Given the description of an element on the screen output the (x, y) to click on. 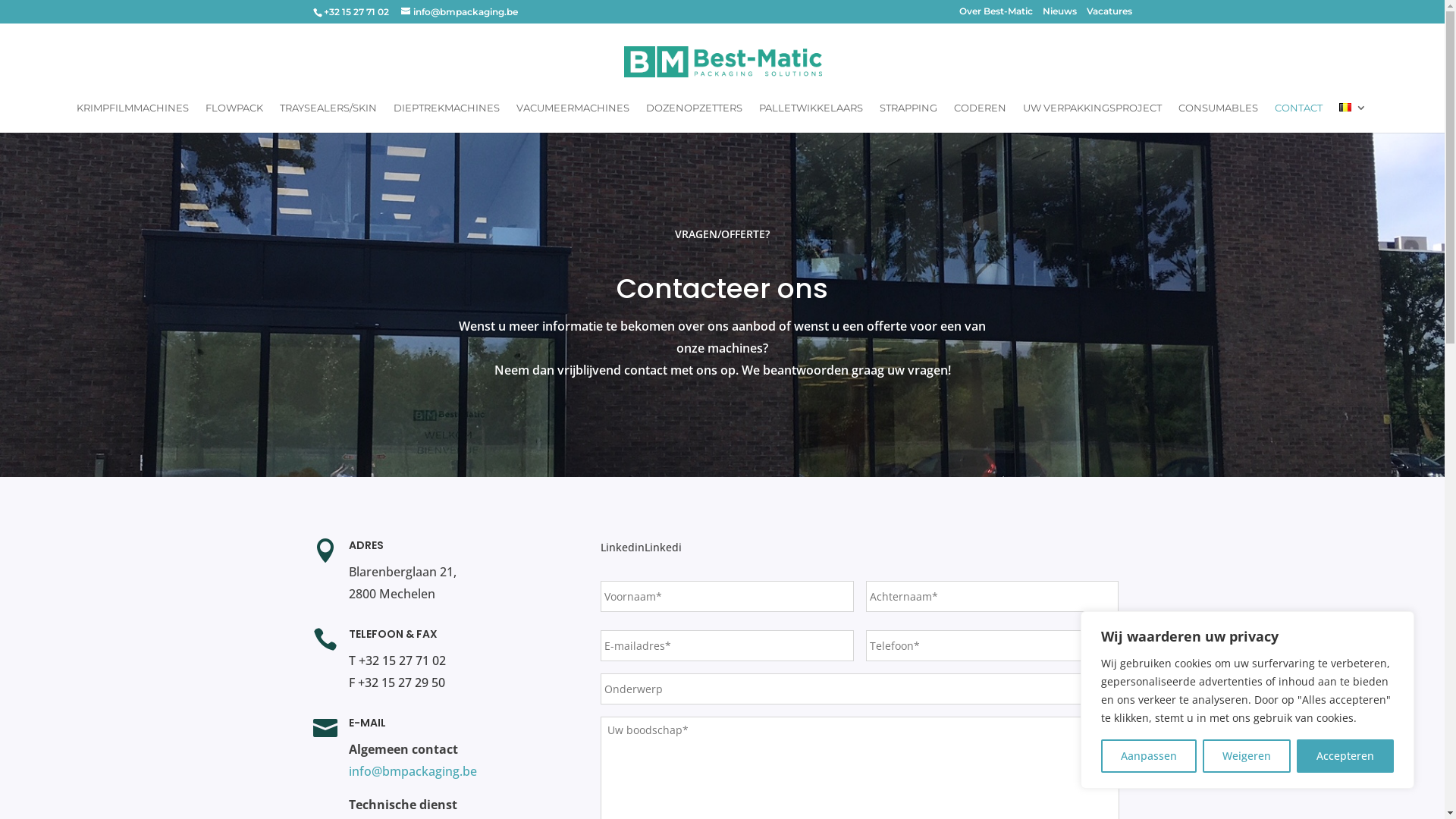
Nieuws Element type: text (1058, 14)
DIEPTREKMACHINES Element type: text (446, 117)
Accepteren Element type: text (1344, 755)
Over Best-Matic Element type: text (995, 14)
PALLETWIKKELAARS Element type: text (810, 117)
CONSUMABLES Element type: text (1218, 117)
info@bmpackaging.be Element type: text (412, 770)
FLOWPACK Element type: text (234, 117)
CODEREN Element type: text (979, 117)
info@bmpackaging.be Element type: text (458, 11)
STRAPPING Element type: text (908, 117)
Vacatures Element type: text (1108, 14)
DOZENOPZETTERS Element type: text (694, 117)
TRAYSEALERS/SKIN Element type: text (327, 117)
KRIMPFILMMACHINES Element type: text (132, 117)
Aanpassen Element type: text (1148, 755)
T +32 15 27 71 02 Element type: text (396, 660)
UW VERPAKKINGSPROJECT Element type: text (1091, 117)
Weigeren Element type: text (1246, 755)
CONTACT Element type: text (1298, 117)
VACUMEERMACHINES Element type: text (572, 117)
F +32 15 27 29 50 Element type: text (396, 682)
